Given the description of an element on the screen output the (x, y) to click on. 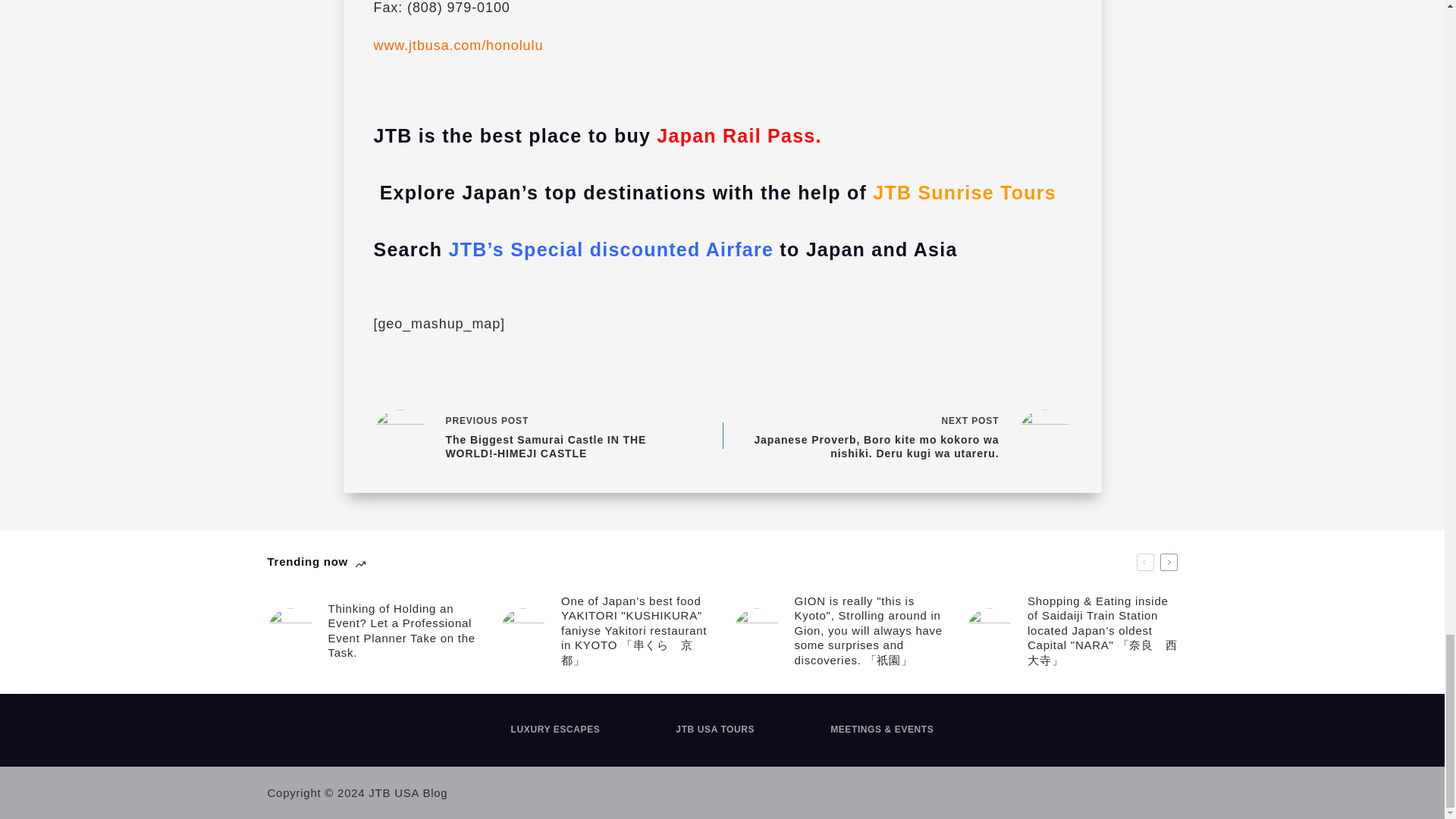
JTB Sunrise Tours (961, 192)
